Given the description of an element on the screen output the (x, y) to click on. 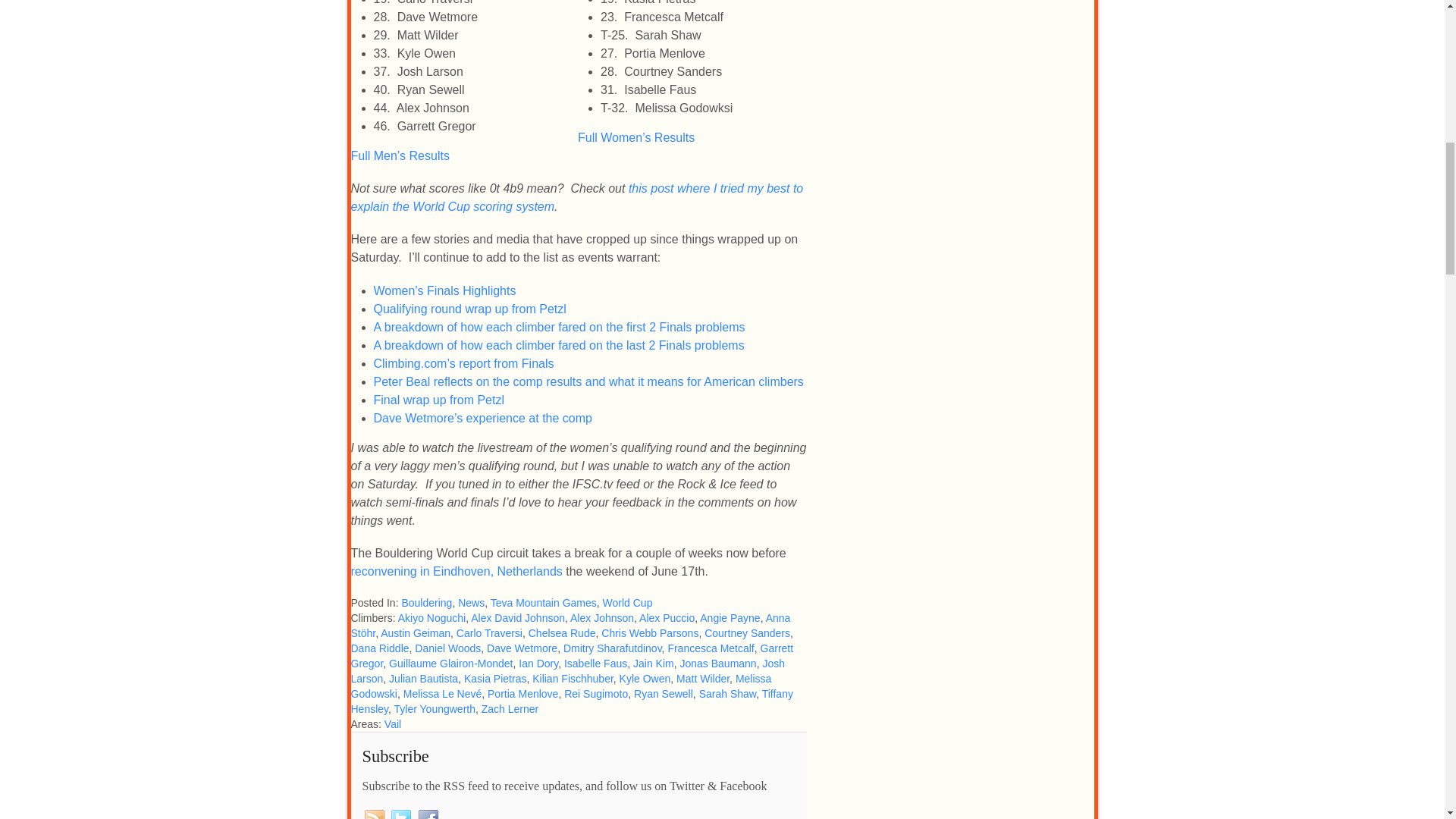
reconvening in Eindhoven, Netherlands (456, 571)
Teva Mountain Games (543, 603)
Angie Payne (730, 617)
Qualifying round wrap up from Petzl (469, 308)
Alex Johnson (601, 617)
Akiyo Noguchi (431, 617)
Subscribe to our RSS feed (374, 813)
